Given the description of an element on the screen output the (x, y) to click on. 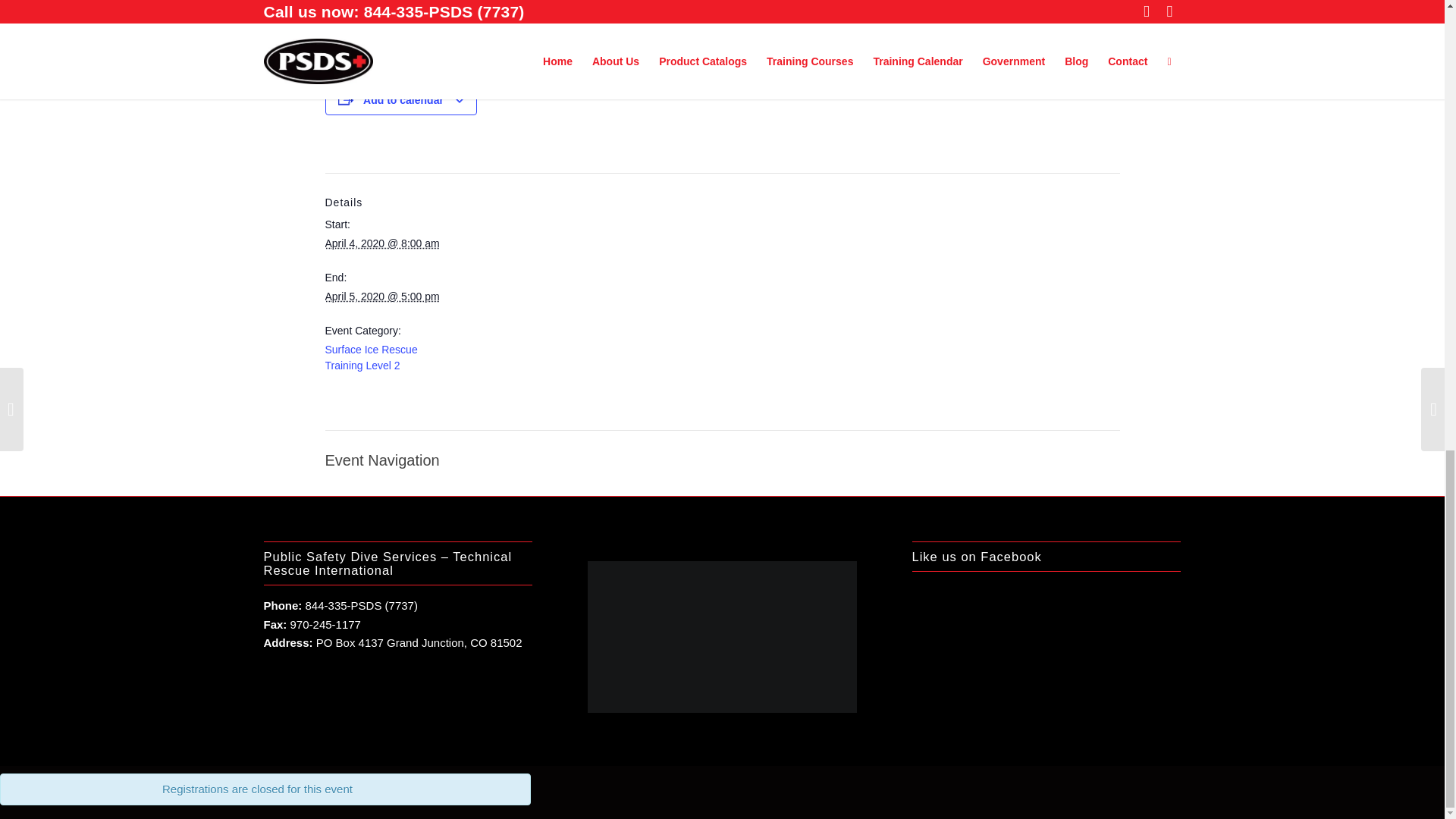
2020-04-04 (381, 243)
Add to calendar (403, 100)
2020-04-05 (381, 296)
